Given the description of an element on the screen output the (x, y) to click on. 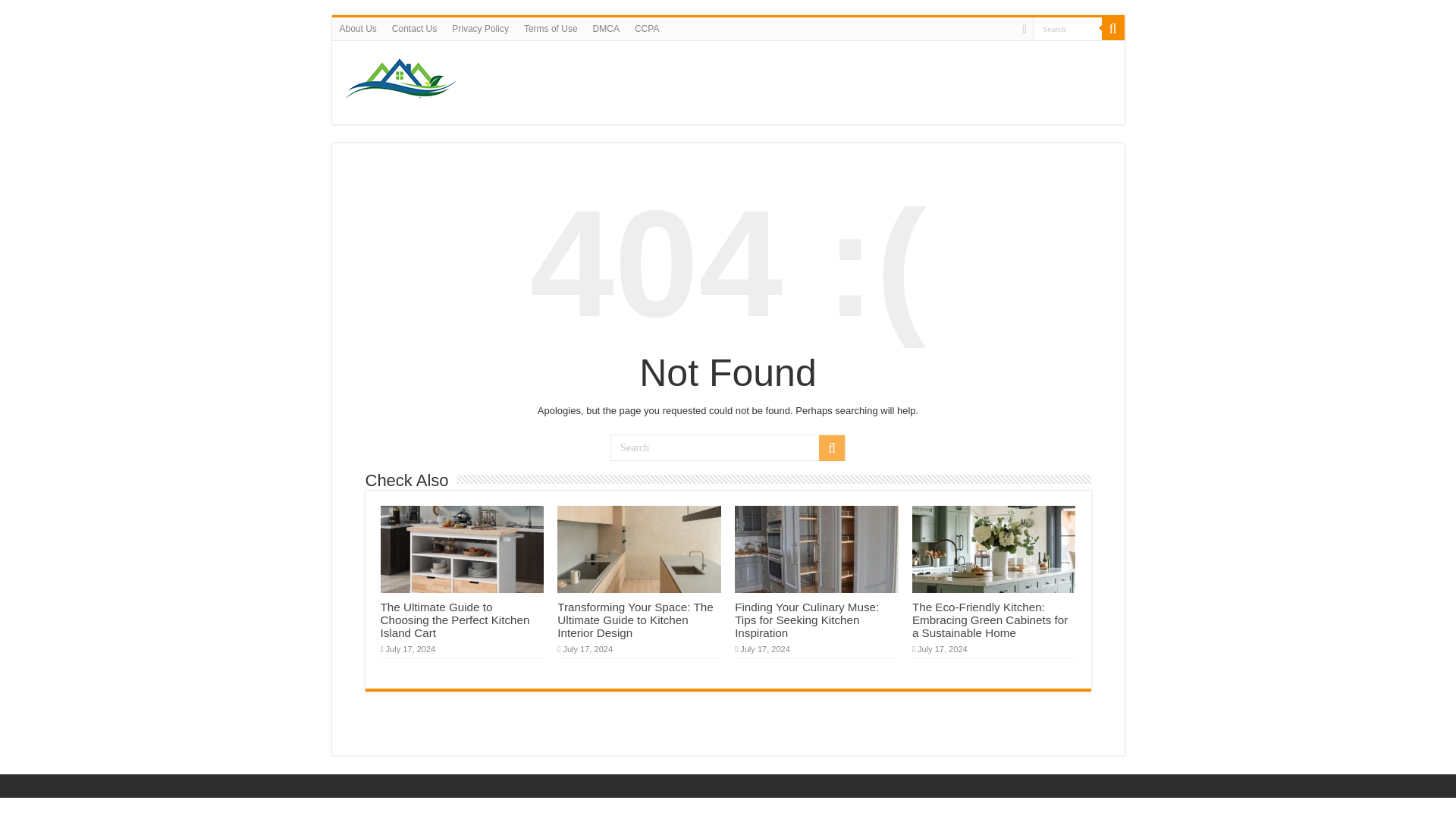
Search (1066, 28)
Privacy Policy (480, 28)
Terms of Use (550, 28)
Decorationg (403, 79)
Search (727, 447)
Search (1066, 28)
Contact Us (414, 28)
Search (1112, 28)
Search (1066, 28)
CCPA (646, 28)
Search (831, 447)
Rss (1023, 29)
About Us (357, 28)
